Given the description of an element on the screen output the (x, y) to click on. 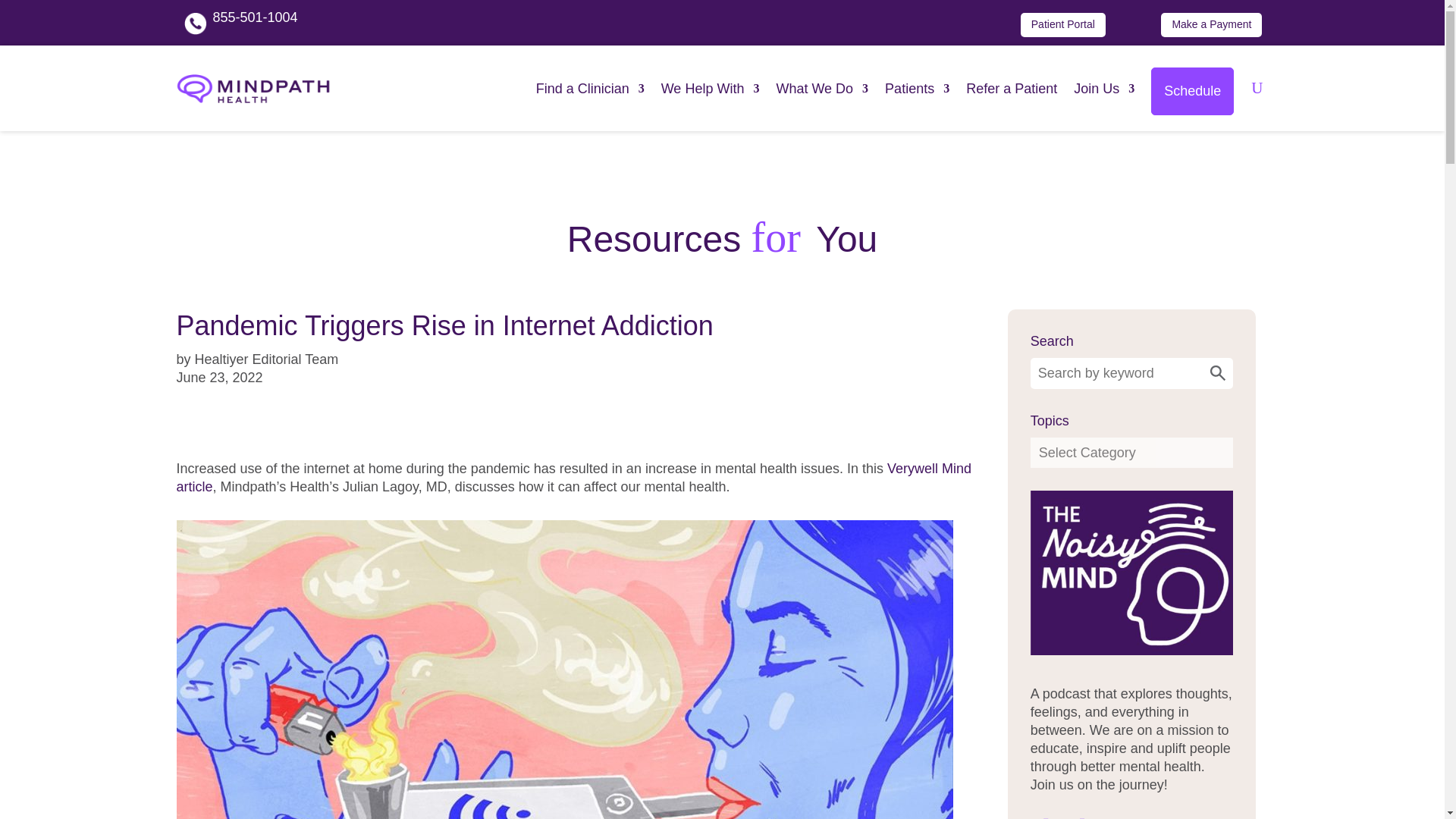
What We Do (821, 88)
Join Us (1104, 88)
Make a Payment (1211, 24)
Schedule (1192, 91)
Refer a Patient (1011, 88)
We Help With (710, 88)
Patients (917, 88)
Patient Portal (1062, 24)
Find a Clinician (590, 88)
855-501-1004 (254, 17)
